Given the description of an element on the screen output the (x, y) to click on. 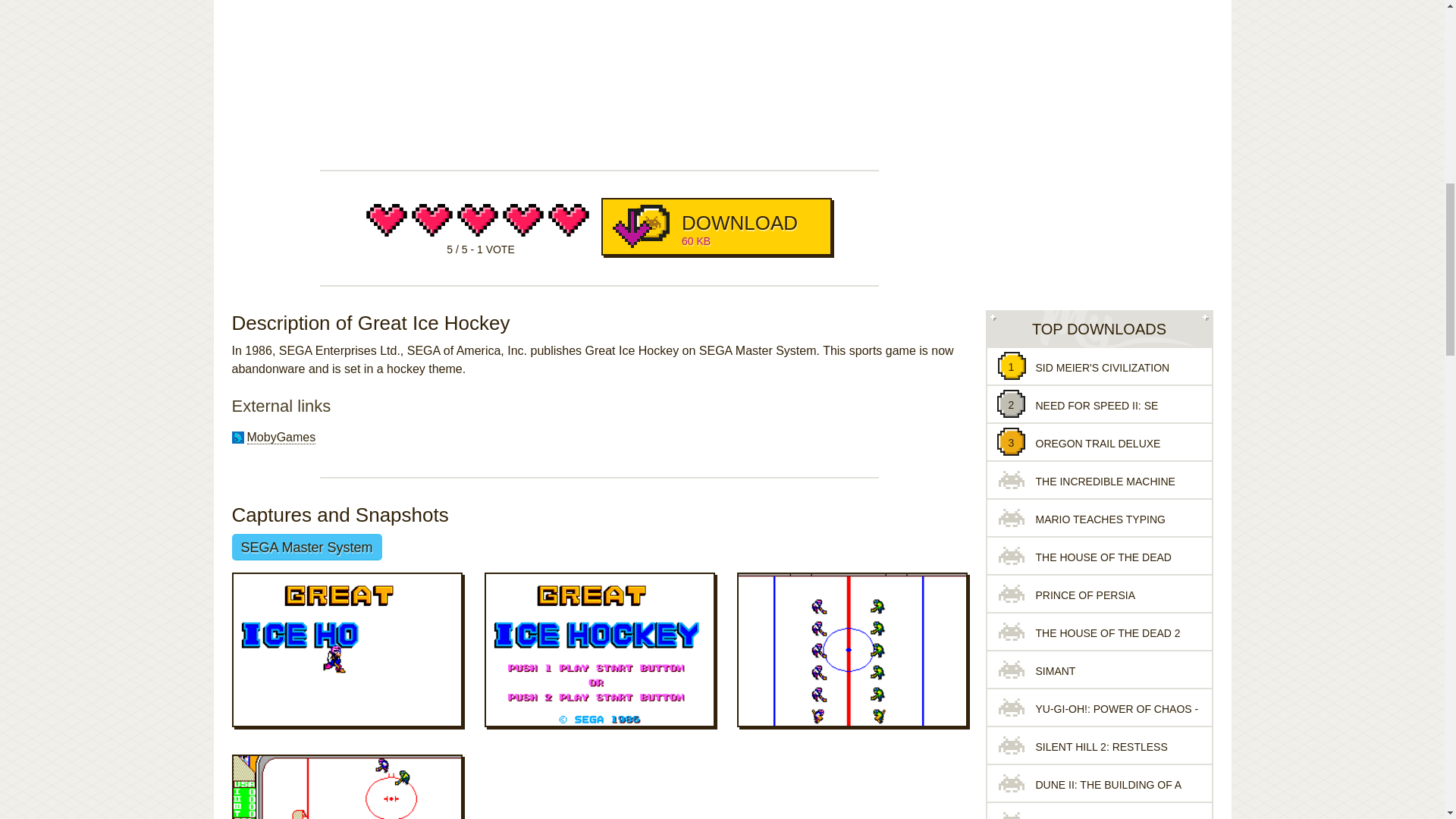
MobyGames (281, 437)
SEGA Master System (306, 546)
